Given the description of an element on the screen output the (x, y) to click on. 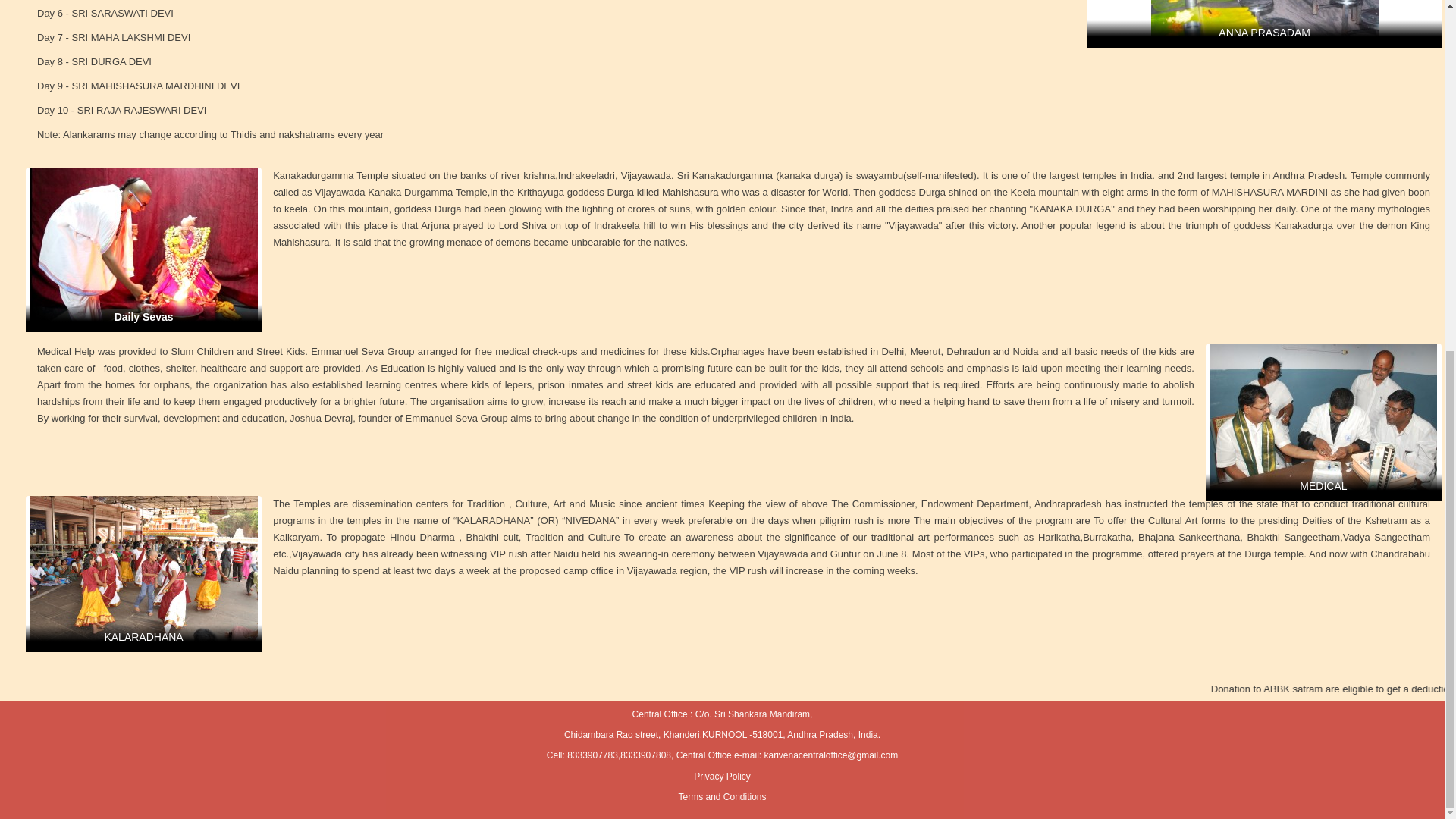
Terms and Conditions (721, 796)
Privacy Policy (722, 776)
